Given the description of an element on the screen output the (x, y) to click on. 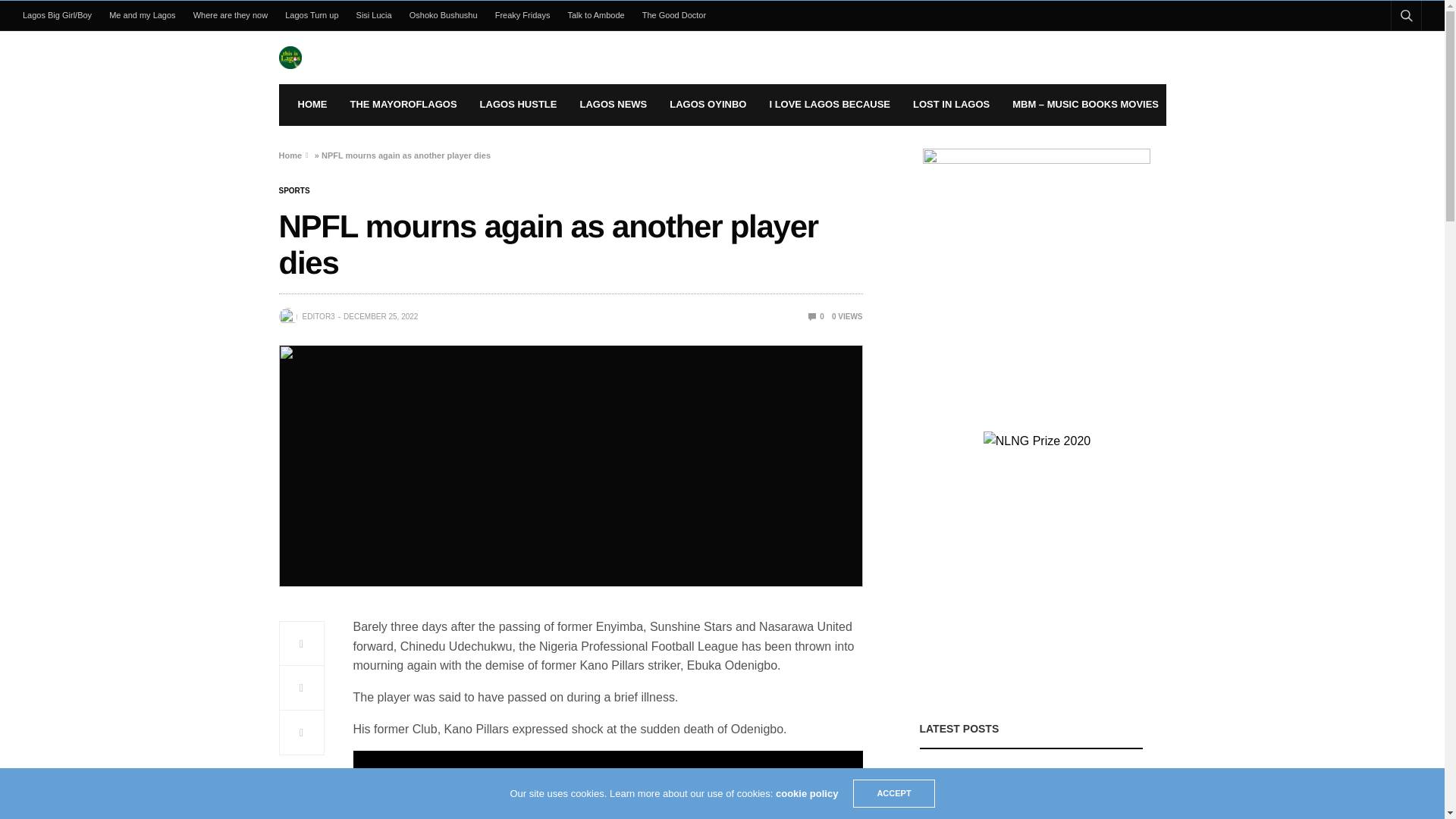
Sports (294, 190)
LAGOS NEWS (612, 105)
Posts by Editor3 (317, 316)
EDITOR3 (317, 316)
Search (1386, 51)
Home (290, 154)
LOST IN LAGOS (951, 105)
SPORTS (294, 190)
Freaky Fridays (522, 15)
The Good Doctor (673, 15)
Me and my Lagos (142, 15)
LAGOS HUSTLE (518, 105)
HOME (311, 105)
Lagos Turn up (312, 15)
Sisi Lucia (373, 15)
